Given the description of an element on the screen output the (x, y) to click on. 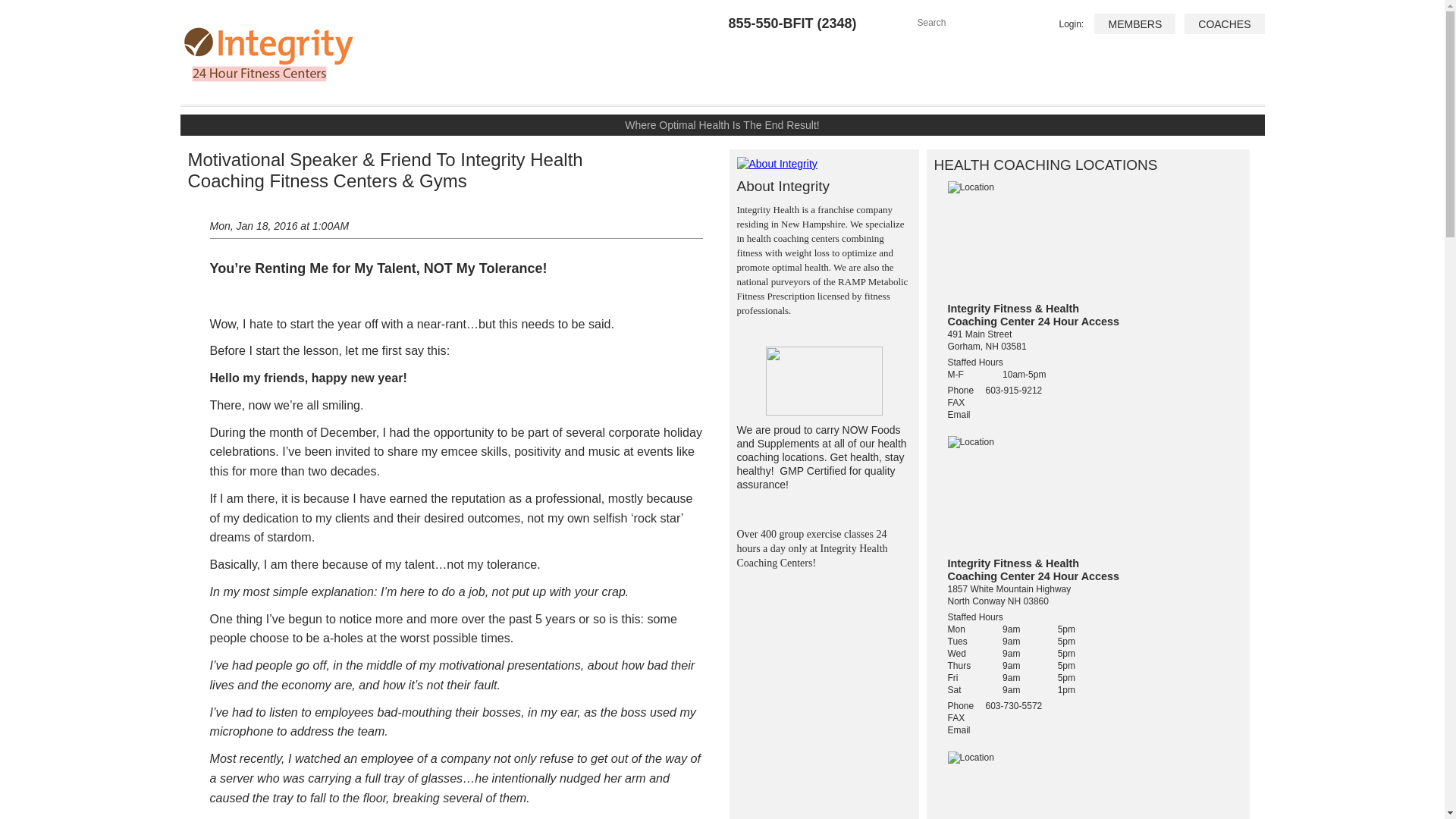
COACHES (1224, 23)
Search (970, 21)
MEMBERS (1134, 23)
